Given the description of an element on the screen output the (x, y) to click on. 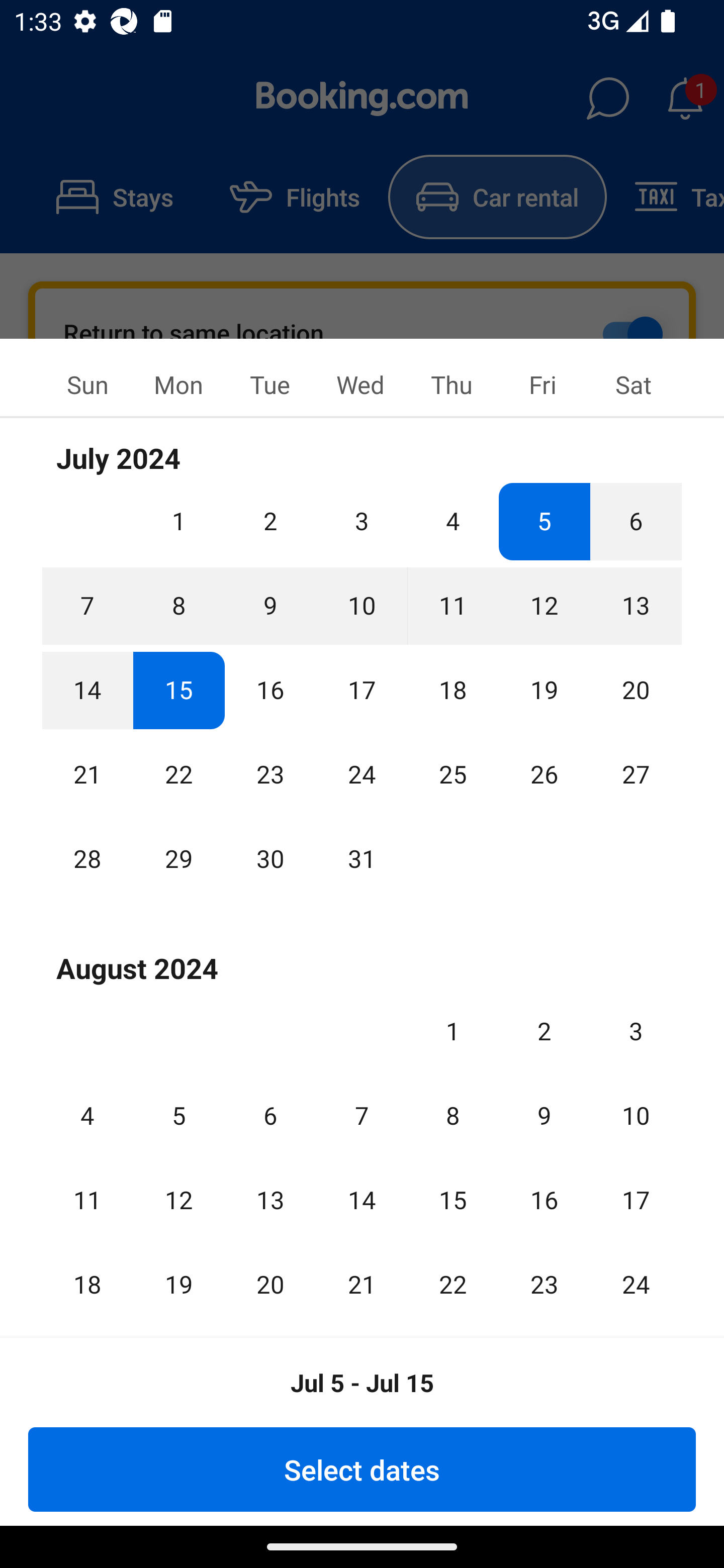
Select dates (361, 1468)
